Given the description of an element on the screen output the (x, y) to click on. 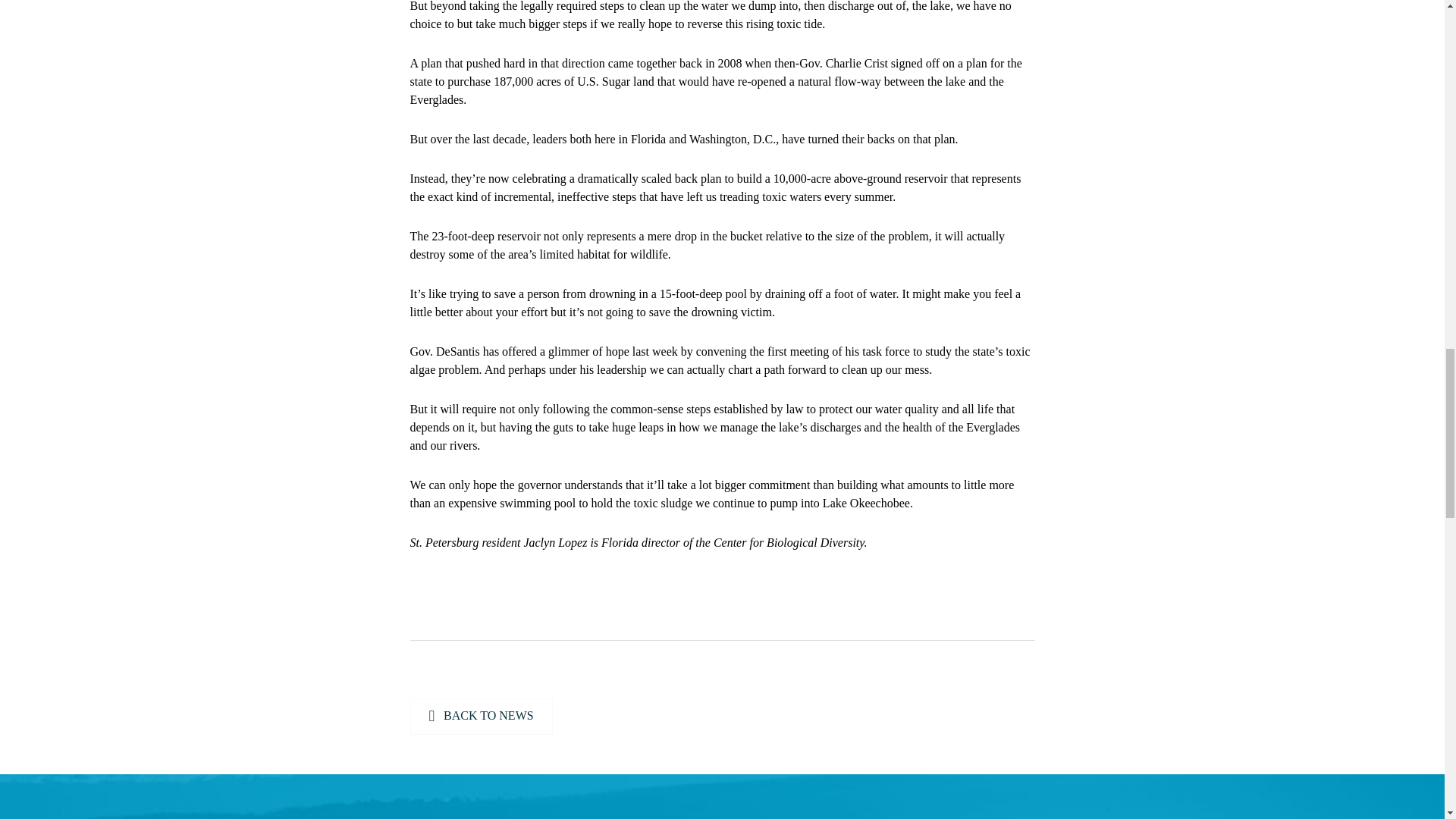
BACK TO NEWS (480, 716)
